Given the description of an element on the screen output the (x, y) to click on. 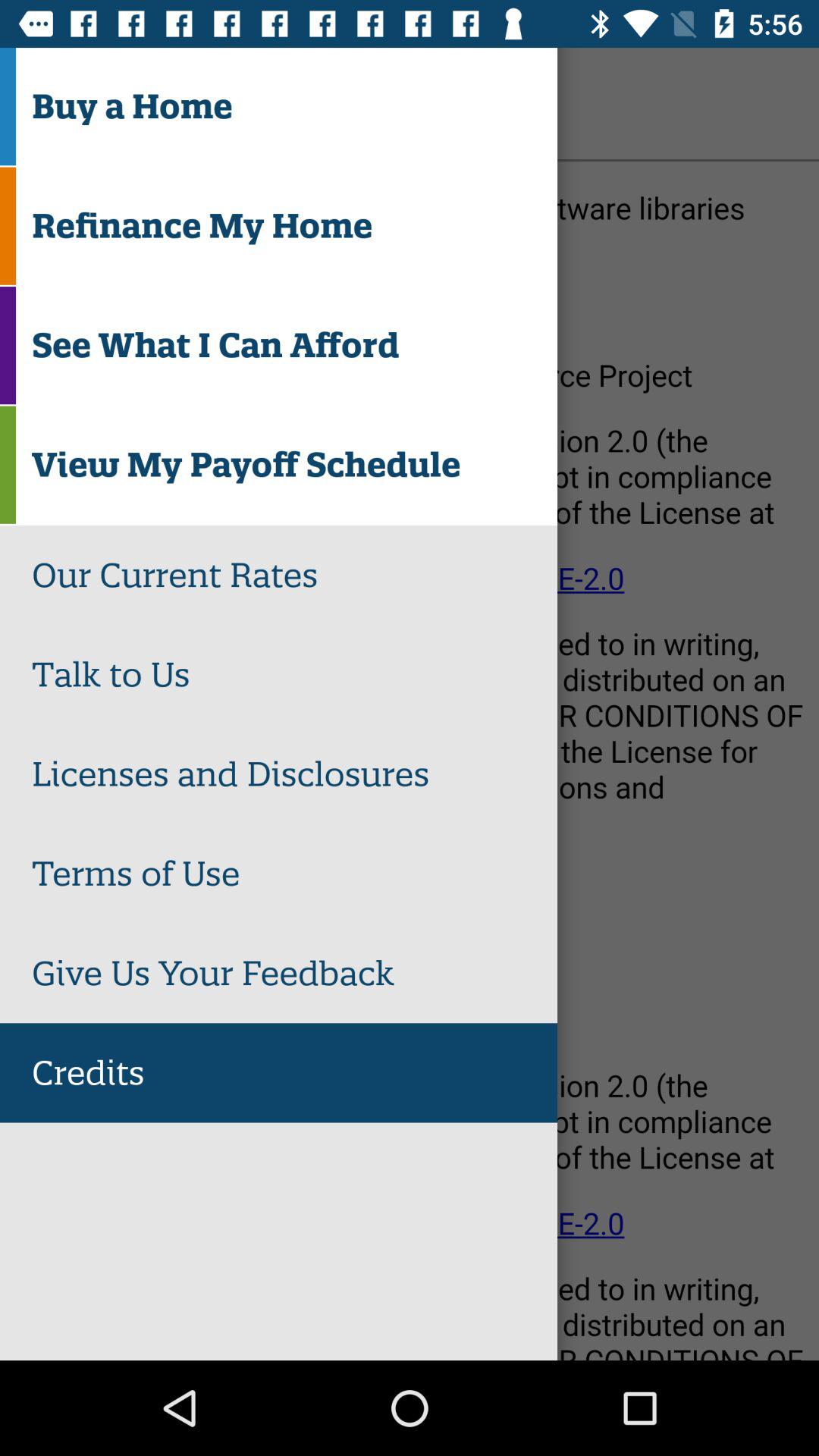
click the icon to the left of credits item (55, 103)
